Given the description of an element on the screen output the (x, y) to click on. 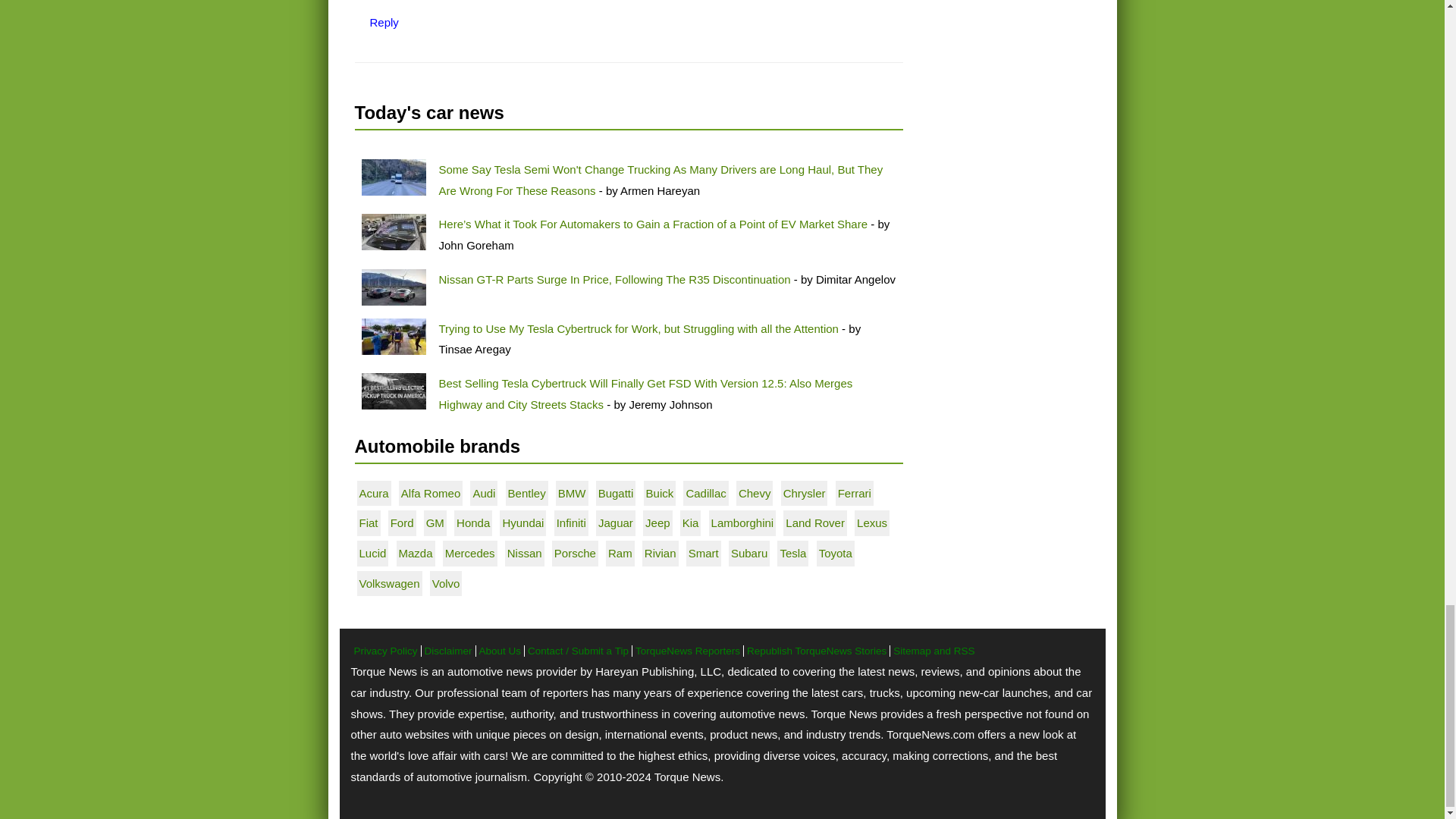
2024 NissaN GT-R (393, 287)
Image of Toyota EV discounting by John Goreham (393, 231)
Reply (383, 21)
Tesla Semi taking on diesel truck (393, 176)
